Given the description of an element on the screen output the (x, y) to click on. 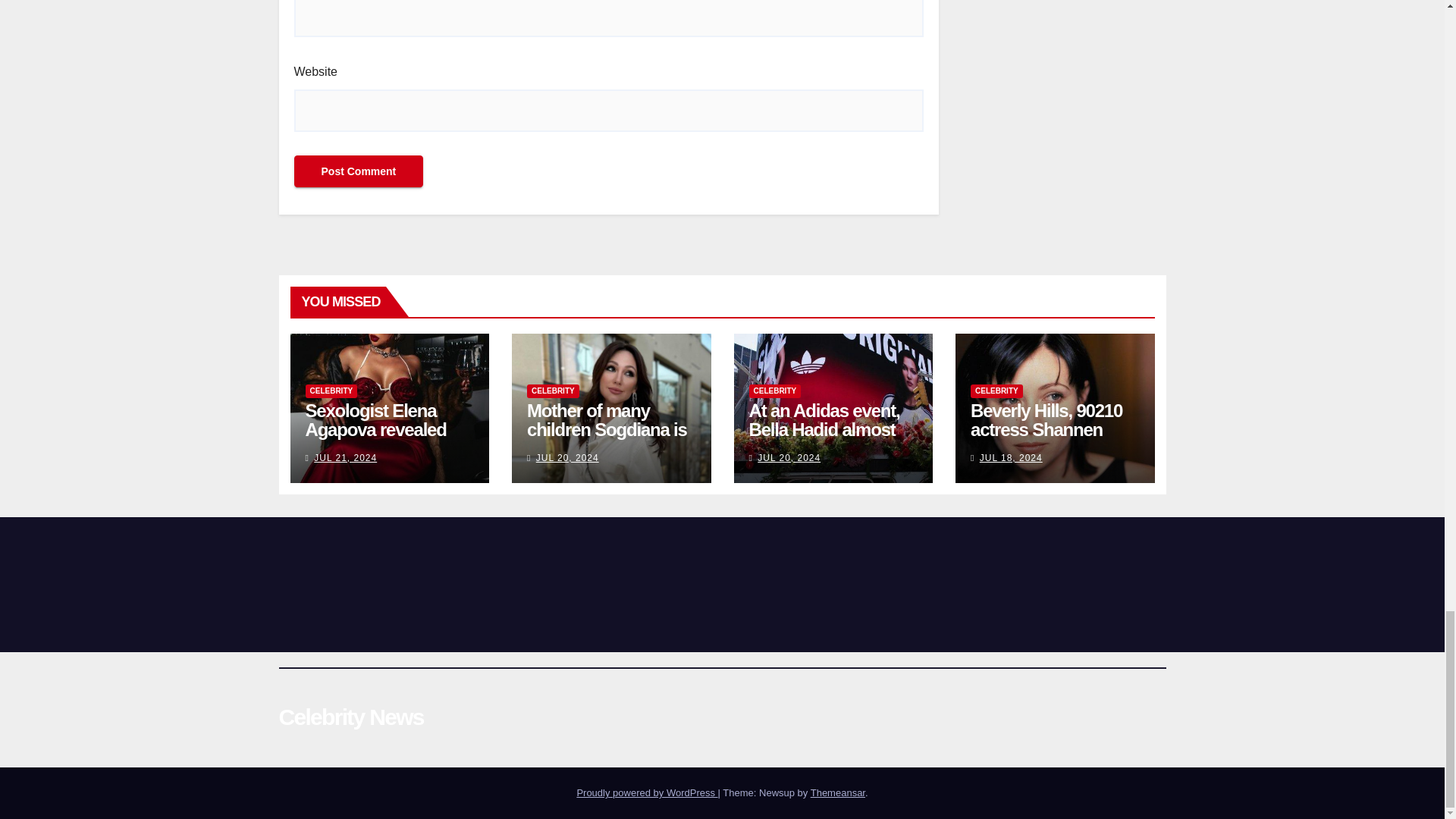
CELEBRITY (553, 391)
Post Comment (358, 171)
CELEBRITY (330, 391)
Post Comment (358, 171)
JUL 21, 2024 (345, 457)
